Given the description of an element on the screen output the (x, y) to click on. 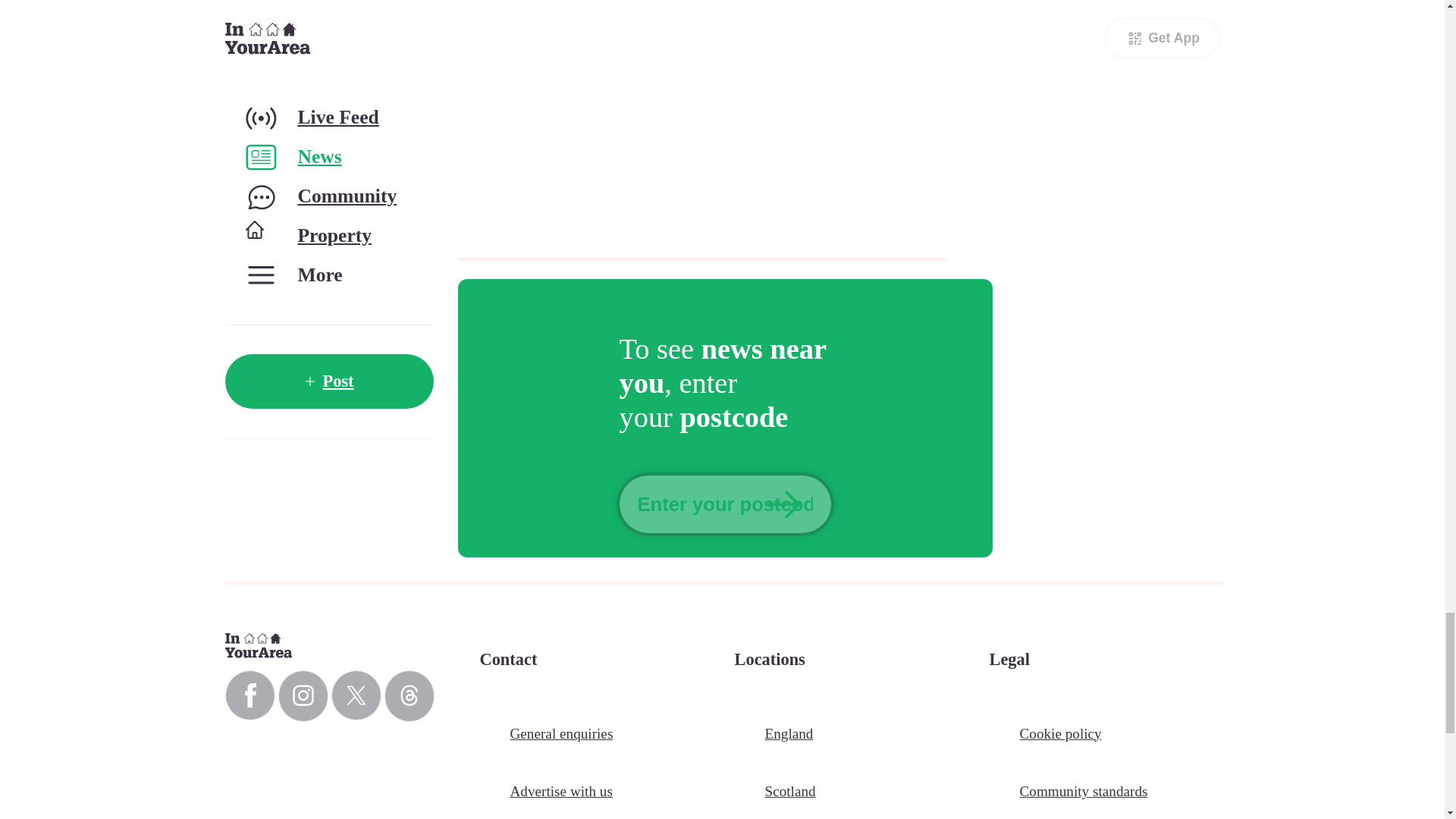
InYourArea Instagram (302, 695)
comments (719, 118)
InYourArea Threads (408, 695)
InYourArea X (355, 695)
InYourArea Facebook (249, 695)
